Given the description of an element on the screen output the (x, y) to click on. 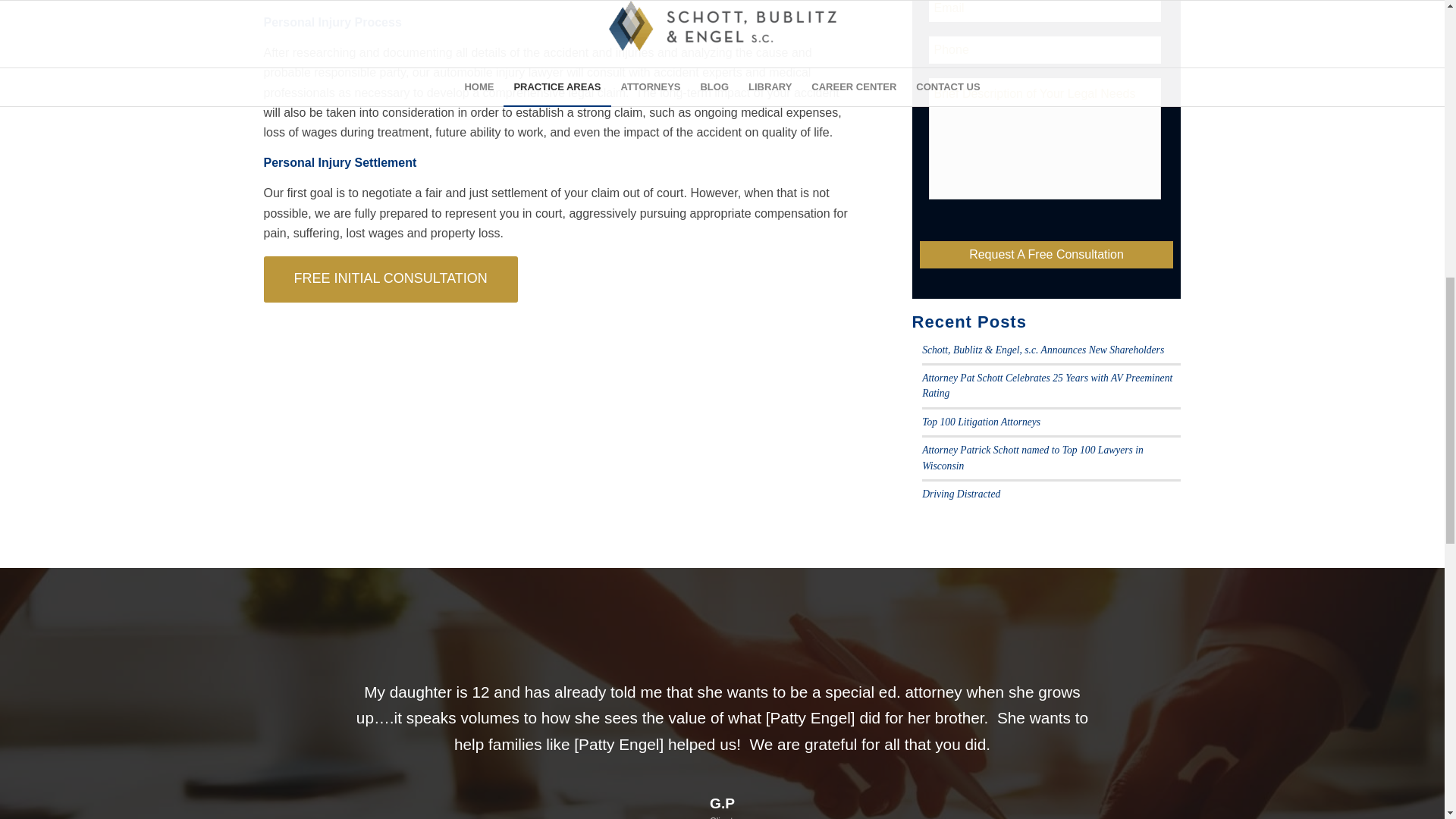
Request A Free Consultation (1046, 254)
